Given the description of an element on the screen output the (x, y) to click on. 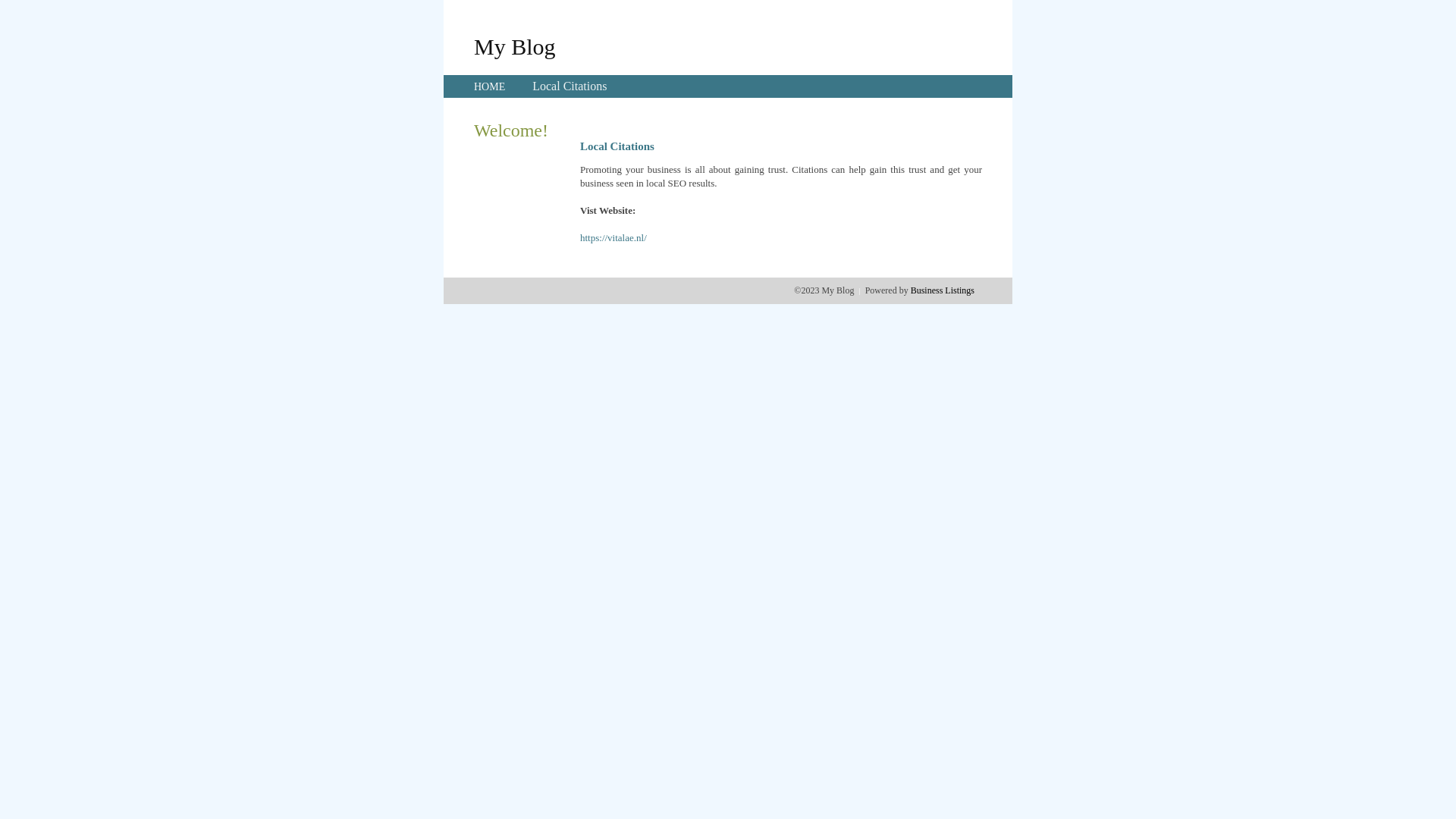
Business Listings Element type: text (942, 290)
My Blog Element type: text (514, 46)
https://vitalae.nl/ Element type: text (613, 237)
HOME Element type: text (489, 86)
Local Citations Element type: text (569, 85)
